Given the description of an element on the screen output the (x, y) to click on. 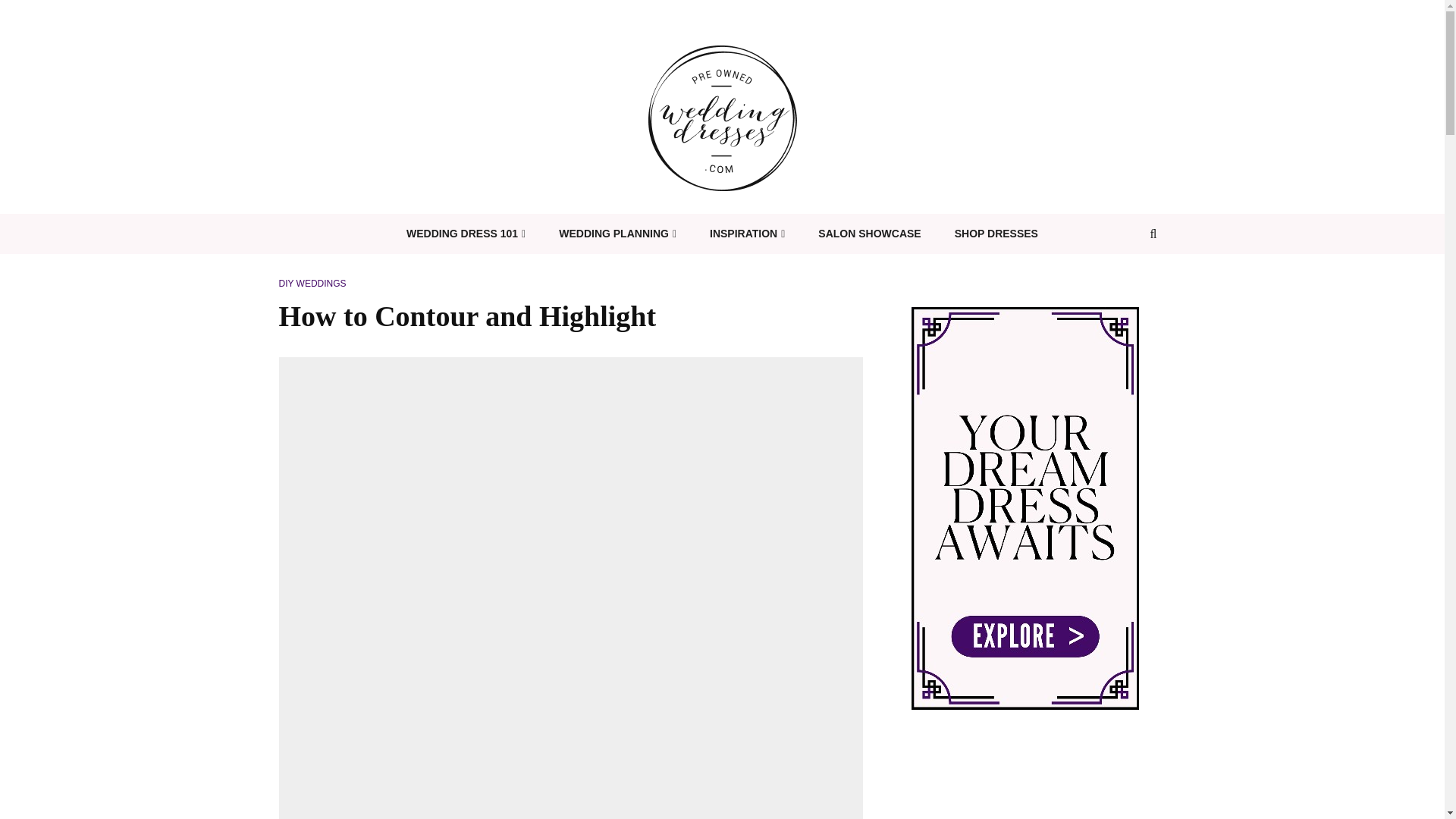
DIY WEDDINGS (312, 283)
SHOP DRESSES (995, 233)
SALON SHOWCASE (869, 233)
INSPIRATION (747, 233)
WEDDING DRESS 101 (465, 233)
WEDDING PLANNING (617, 233)
